Given the description of an element on the screen output the (x, y) to click on. 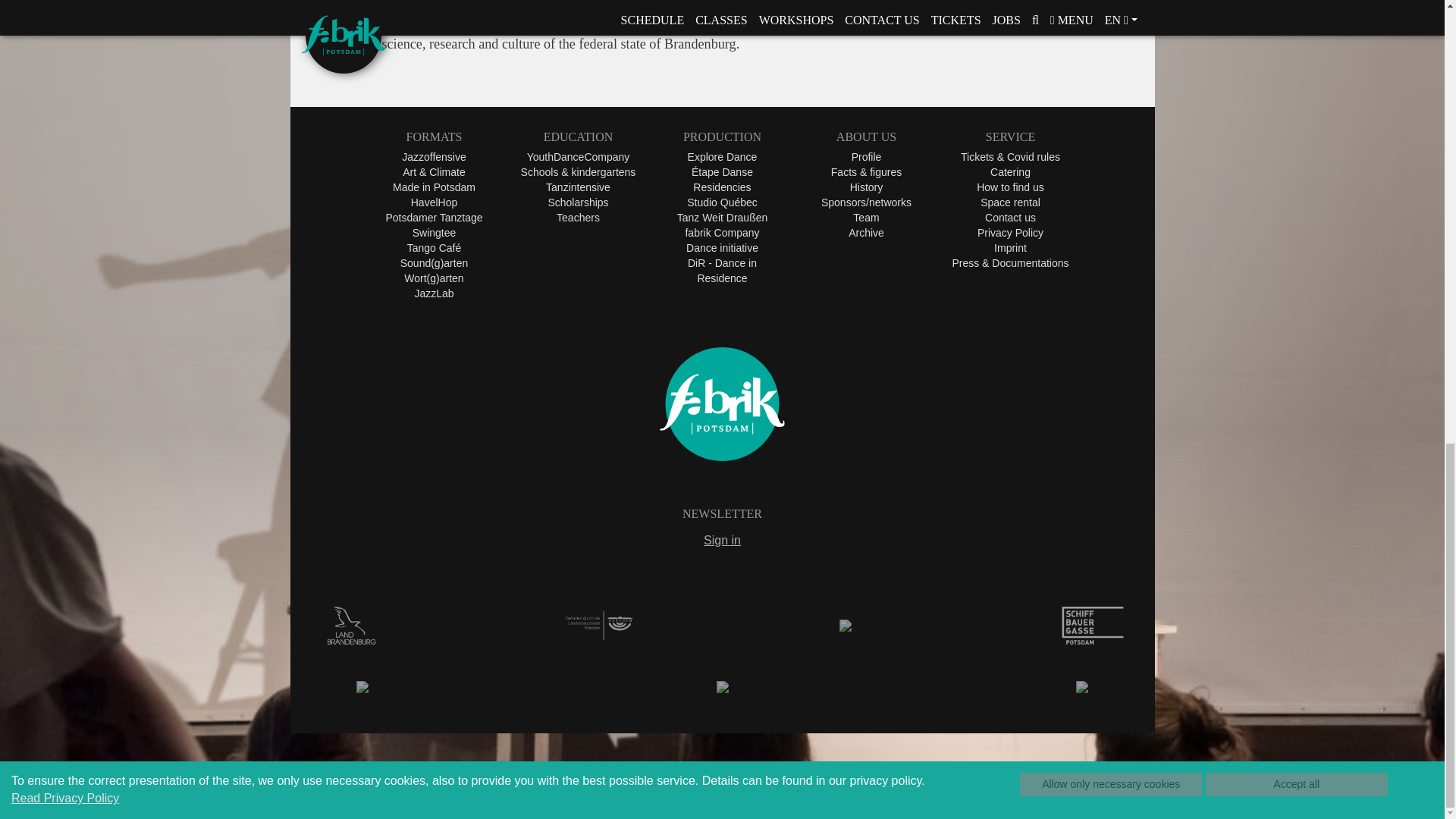
Teachers (577, 217)
Swingtee (434, 232)
YouthDanceCompany (578, 156)
Explore Dance (722, 156)
HavelHop (433, 202)
JazzLab (432, 293)
Residencies (722, 186)
Scholarships (577, 202)
Potsdamer Tanztage (433, 217)
Jazzoffensive (433, 156)
Tanzintensive (578, 186)
fabrik Company (721, 232)
Made in Potsdam (434, 186)
